Given the description of an element on the screen output the (x, y) to click on. 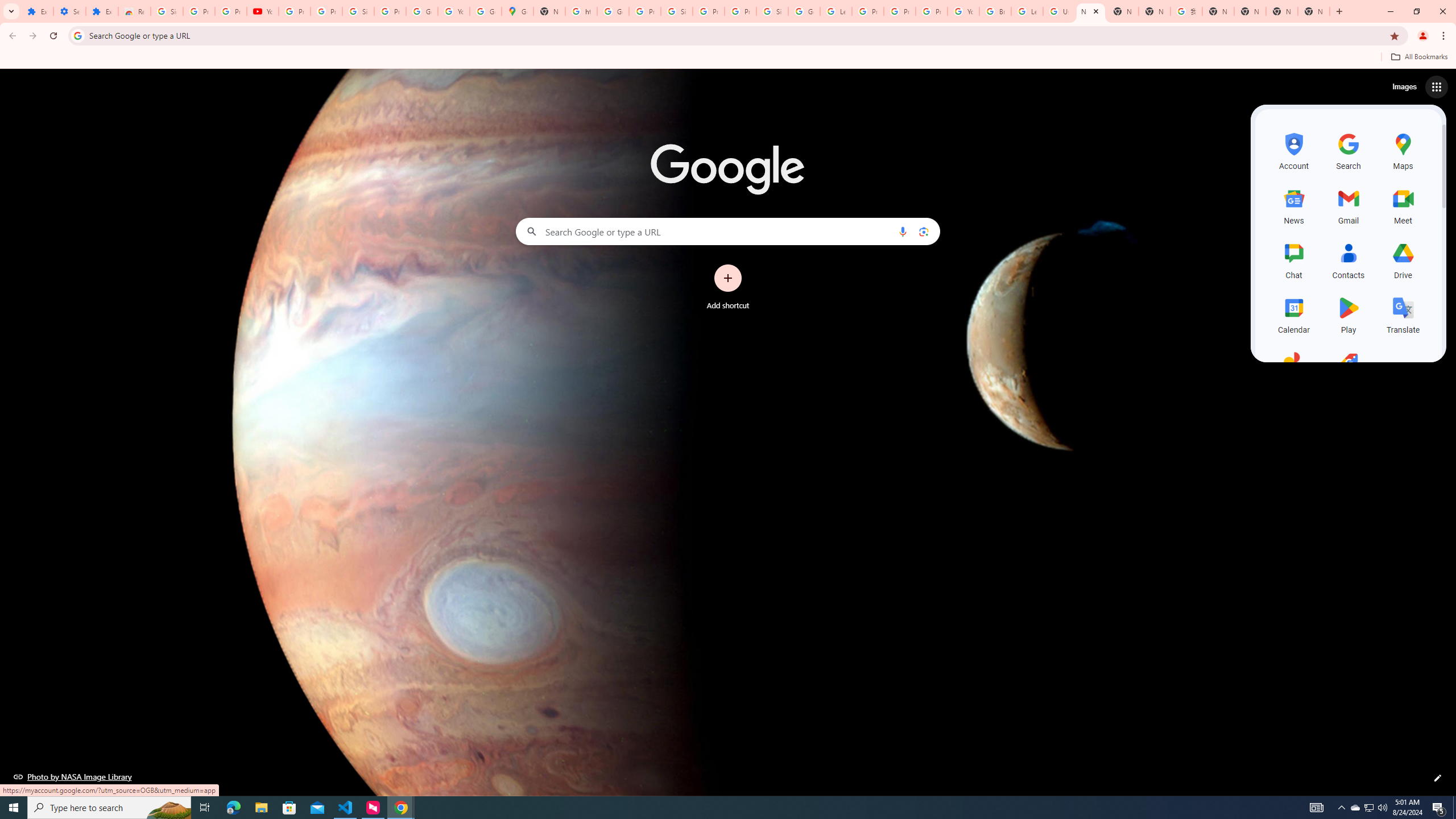
Maps, row 1 of 5 and column 3 of 3 in the first section (1402, 149)
Privacy Help Center - Policies Help (868, 11)
Search Google or type a URL (727, 230)
Shopping, row 5 of 5 and column 2 of 3 in the first section (1348, 368)
Calendar, row 4 of 5 and column 1 of 3 in the first section (1293, 313)
Google Account (421, 11)
YouTube (453, 11)
Play, row 4 of 5 and column 2 of 3 in the first section (1348, 313)
